Given the description of an element on the screen output the (x, y) to click on. 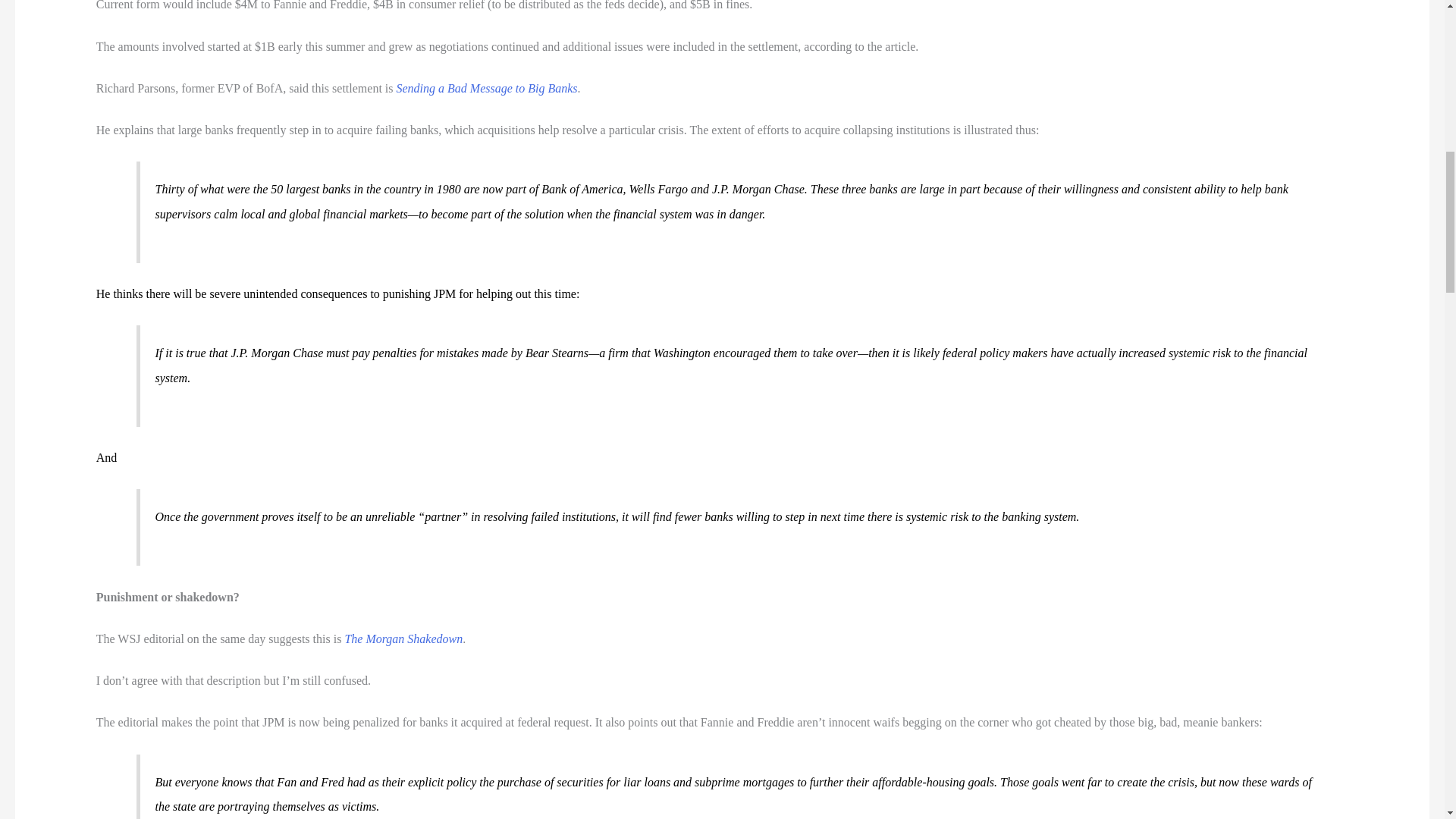
Sending a Bad Message to Big Banks (487, 88)
The Morgan Shakedown (403, 638)
